Given the description of an element on the screen output the (x, y) to click on. 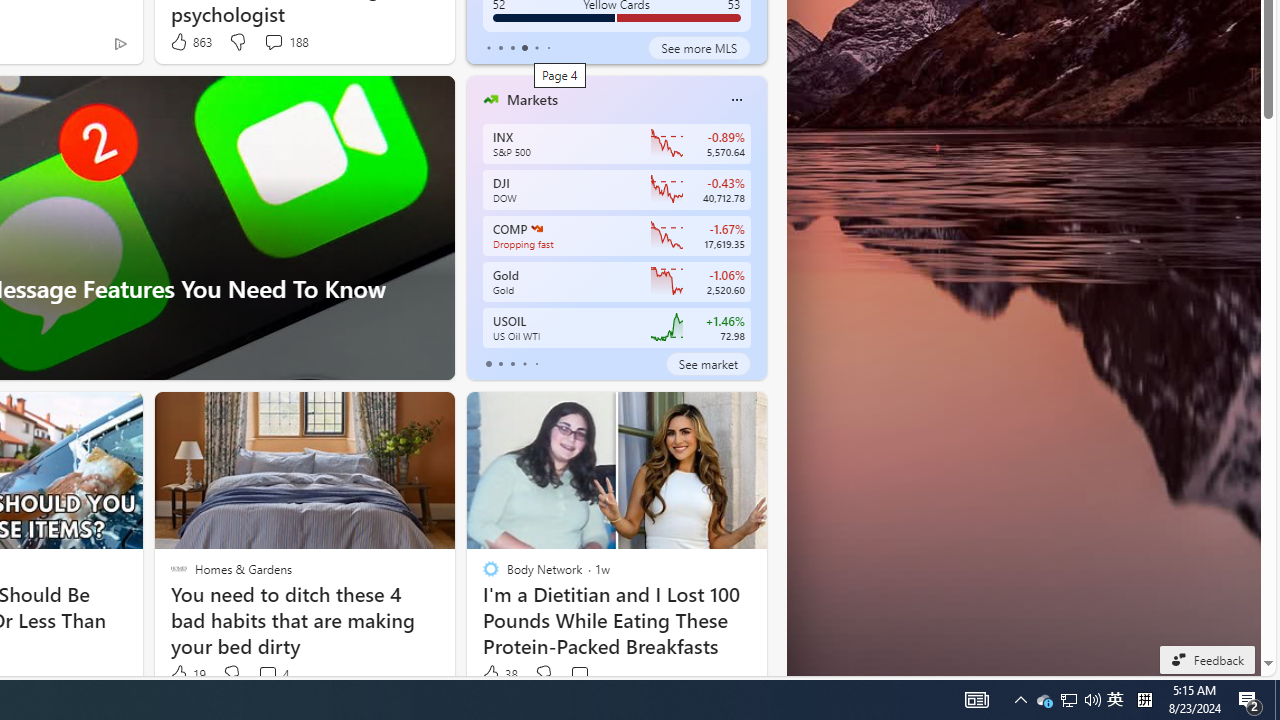
View comments 188 Comment (285, 42)
See market (708, 363)
NASDAQ (535, 228)
tab-3 (524, 363)
19 Like (186, 674)
View comments 4 Comment (267, 673)
tab-1 (500, 363)
View comments 4 Comment (272, 674)
863 Like (190, 42)
tab-0 (488, 363)
